Given the description of an element on the screen output the (x, y) to click on. 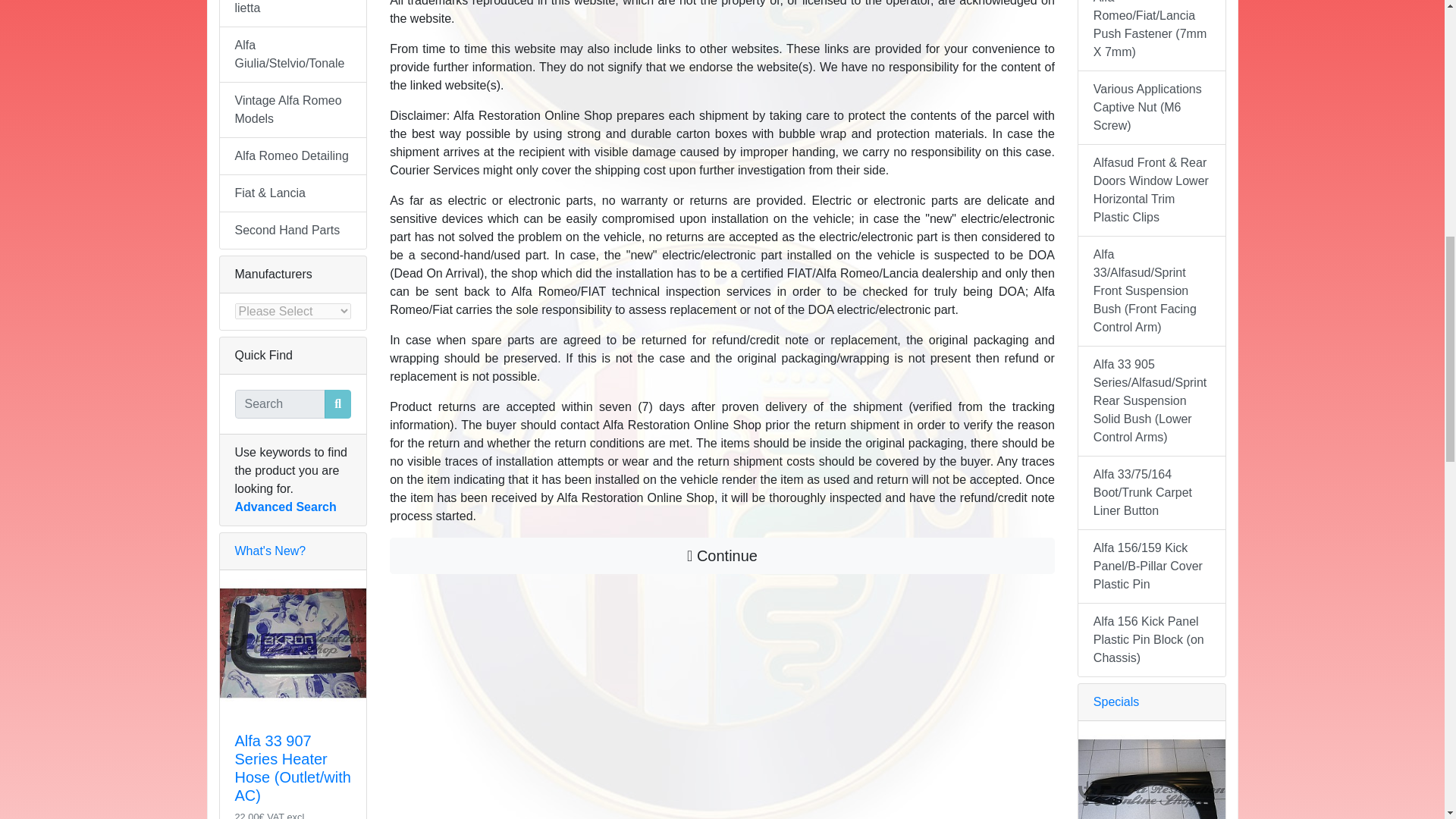
Continue (722, 555)
Alfa Romeo Detailing (292, 156)
What's New? (269, 550)
Second Hand Parts (292, 230)
Advanced Search (285, 506)
Vintage Alfa Romeo Models (292, 110)
